Given the description of an element on the screen output the (x, y) to click on. 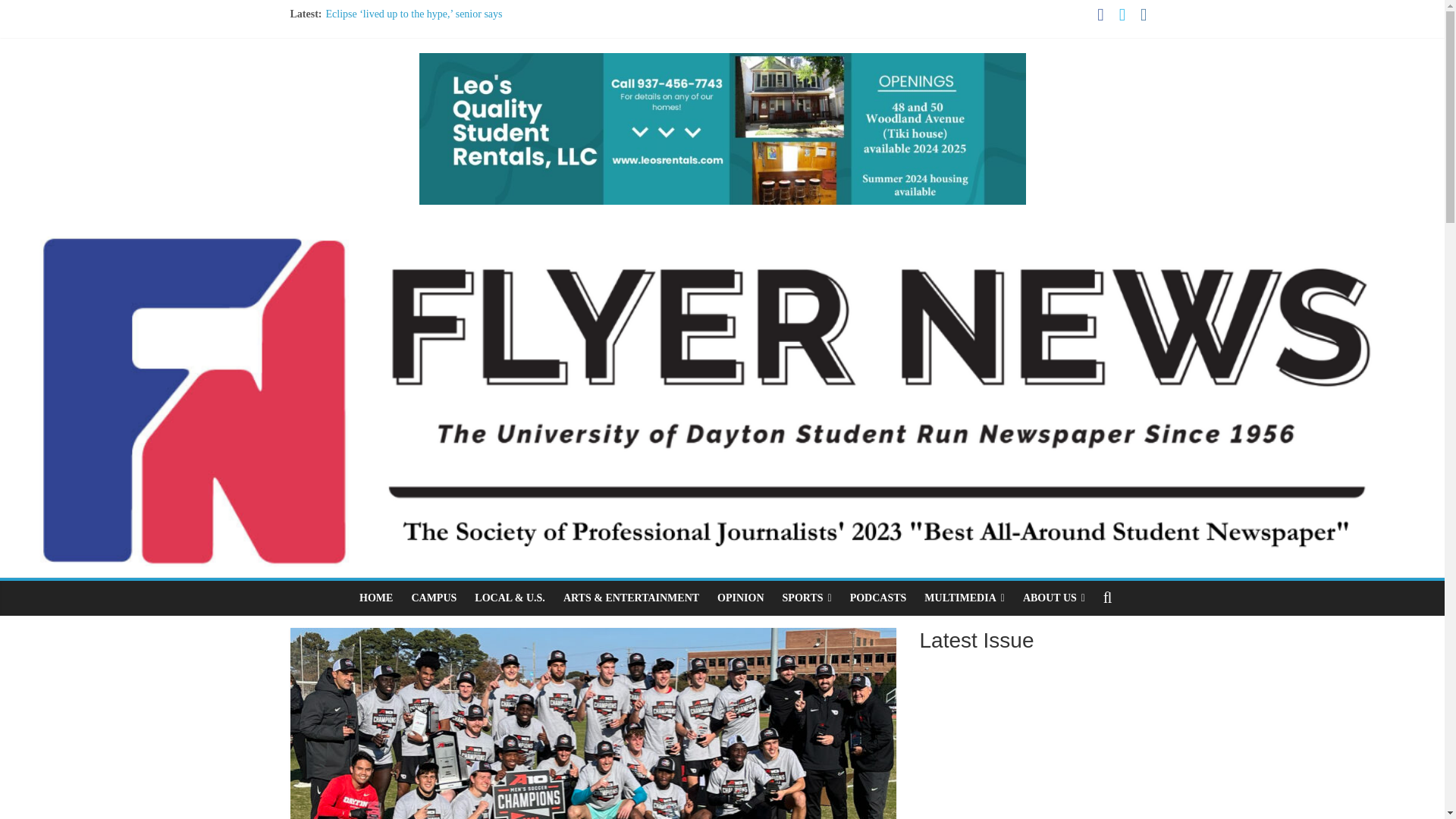
HOME (375, 597)
CAMPUS (433, 597)
PODCASTS (878, 597)
MULTIMEDIA (964, 597)
ABOUT US (1053, 597)
OPINION (740, 597)
SPORTS (807, 597)
